Given the description of an element on the screen output the (x, y) to click on. 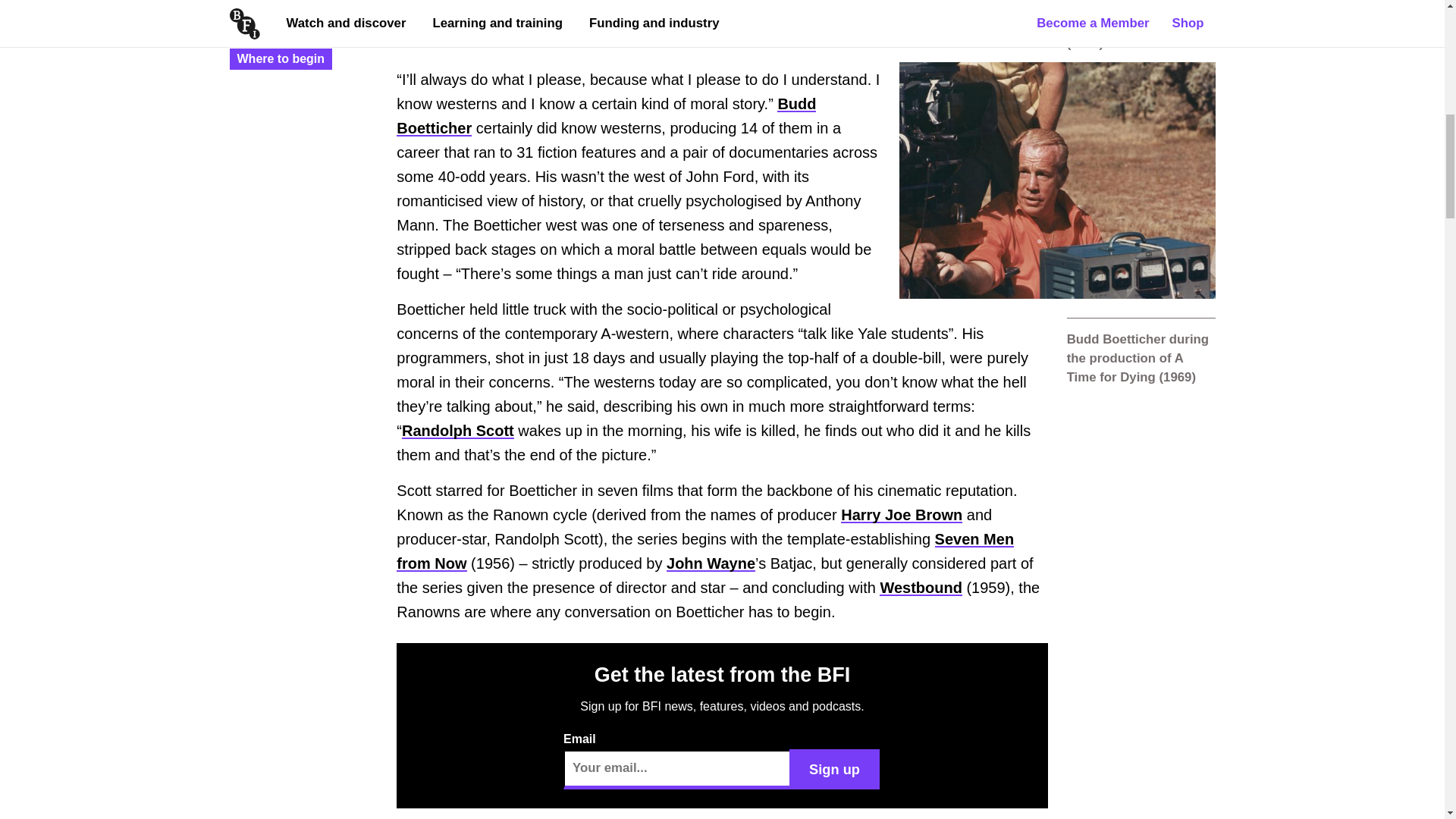
Westbound (920, 587)
Seven Men from Now (704, 550)
Budd Boetticher (605, 115)
Sign up (834, 768)
John Wayne (710, 563)
Harry Joe Brown (901, 514)
Where to begin (279, 58)
Matthew Thrift (290, 13)
Randolph Scott (457, 430)
